Given the description of an element on the screen output the (x, y) to click on. 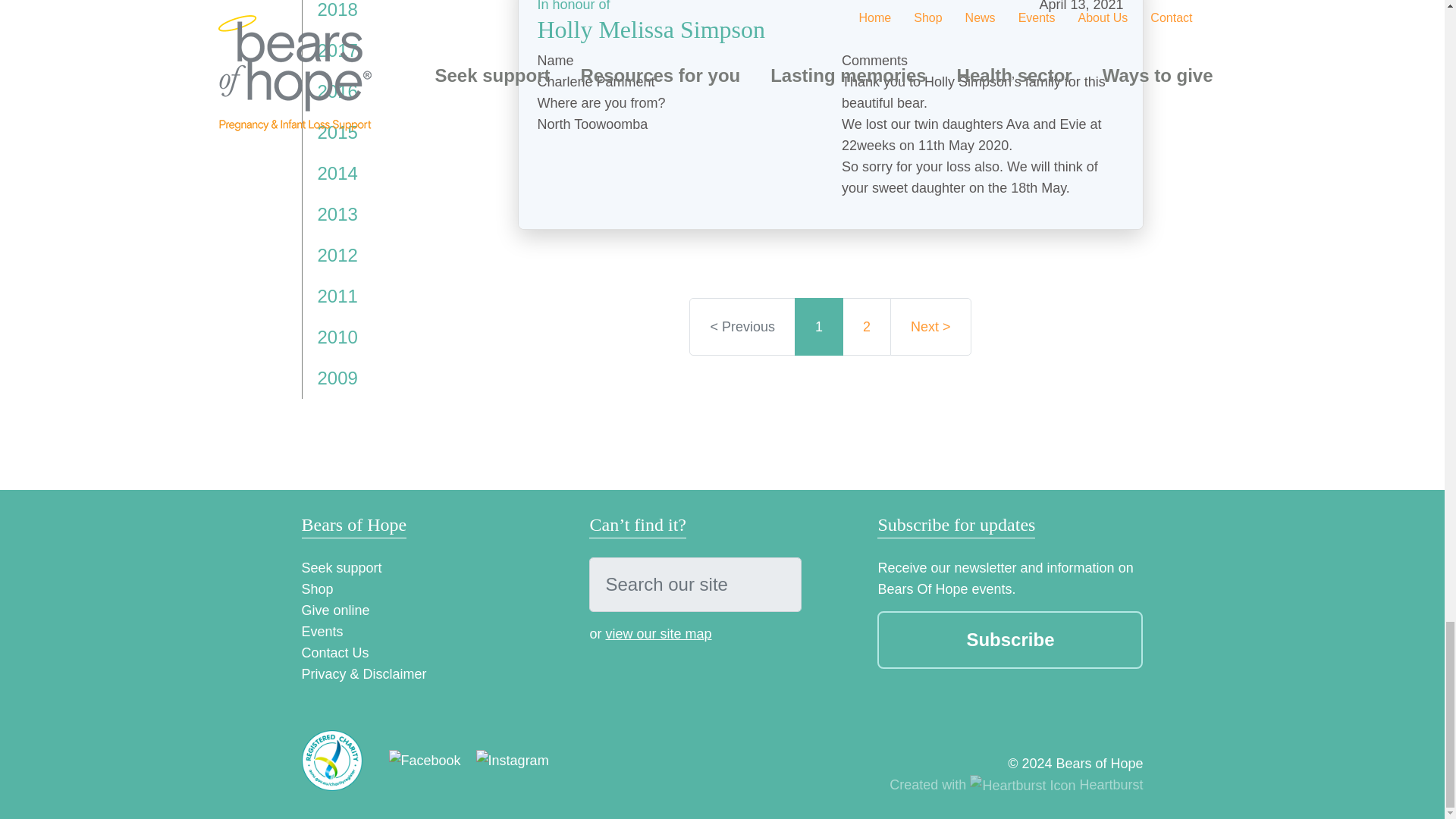
Search (774, 584)
Website design for nonprofits (1015, 784)
Search (774, 584)
